Given the description of an element on the screen output the (x, y) to click on. 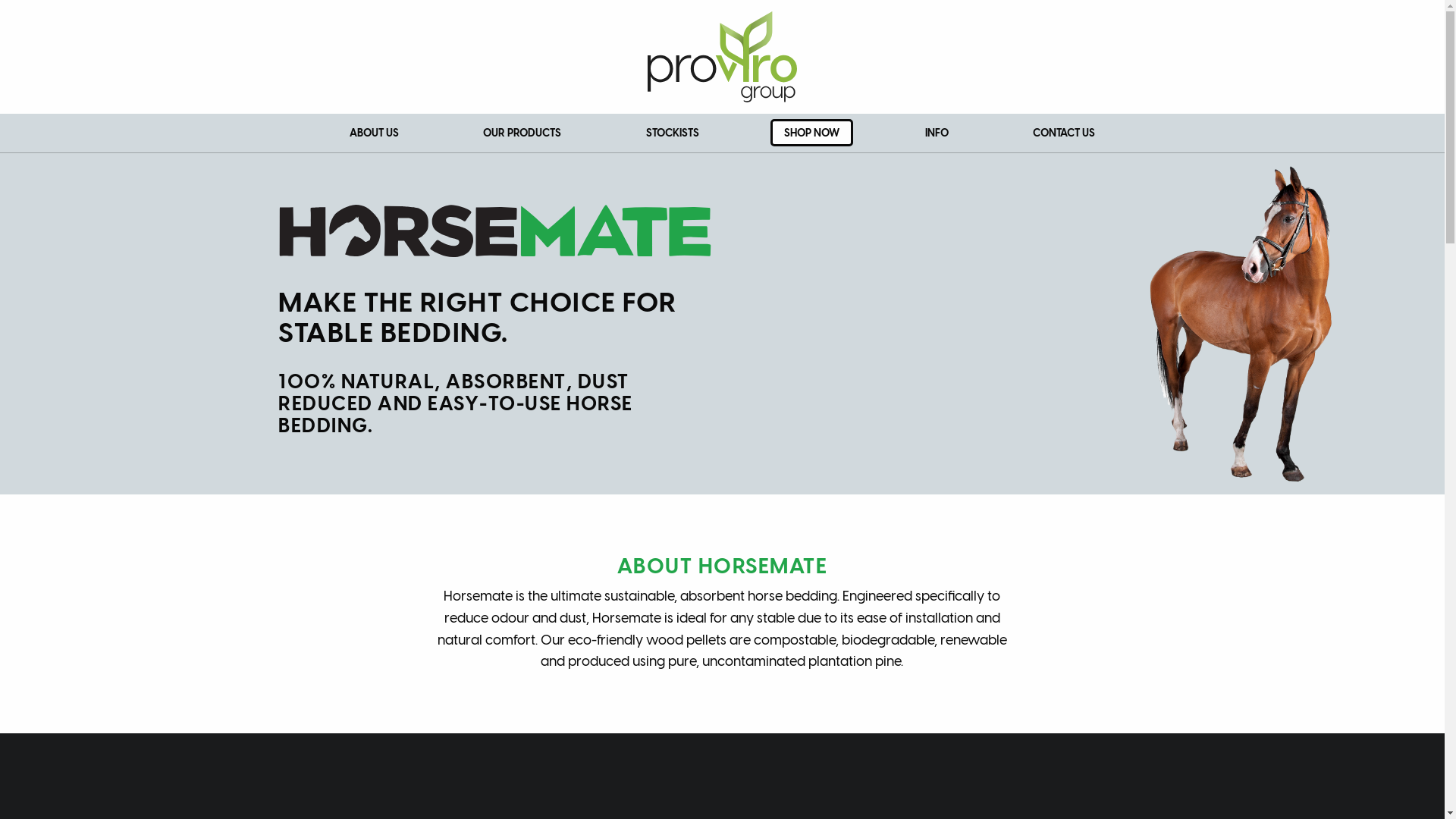
STOCKISTS Element type: text (672, 132)
INFO Element type: text (936, 132)
ABOUT US Element type: text (373, 132)
SHOP NOW Element type: text (811, 132)
OUR PRODUCTS Element type: text (521, 132)
CONTACT US Element type: text (1063, 132)
